Given the description of an element on the screen output the (x, y) to click on. 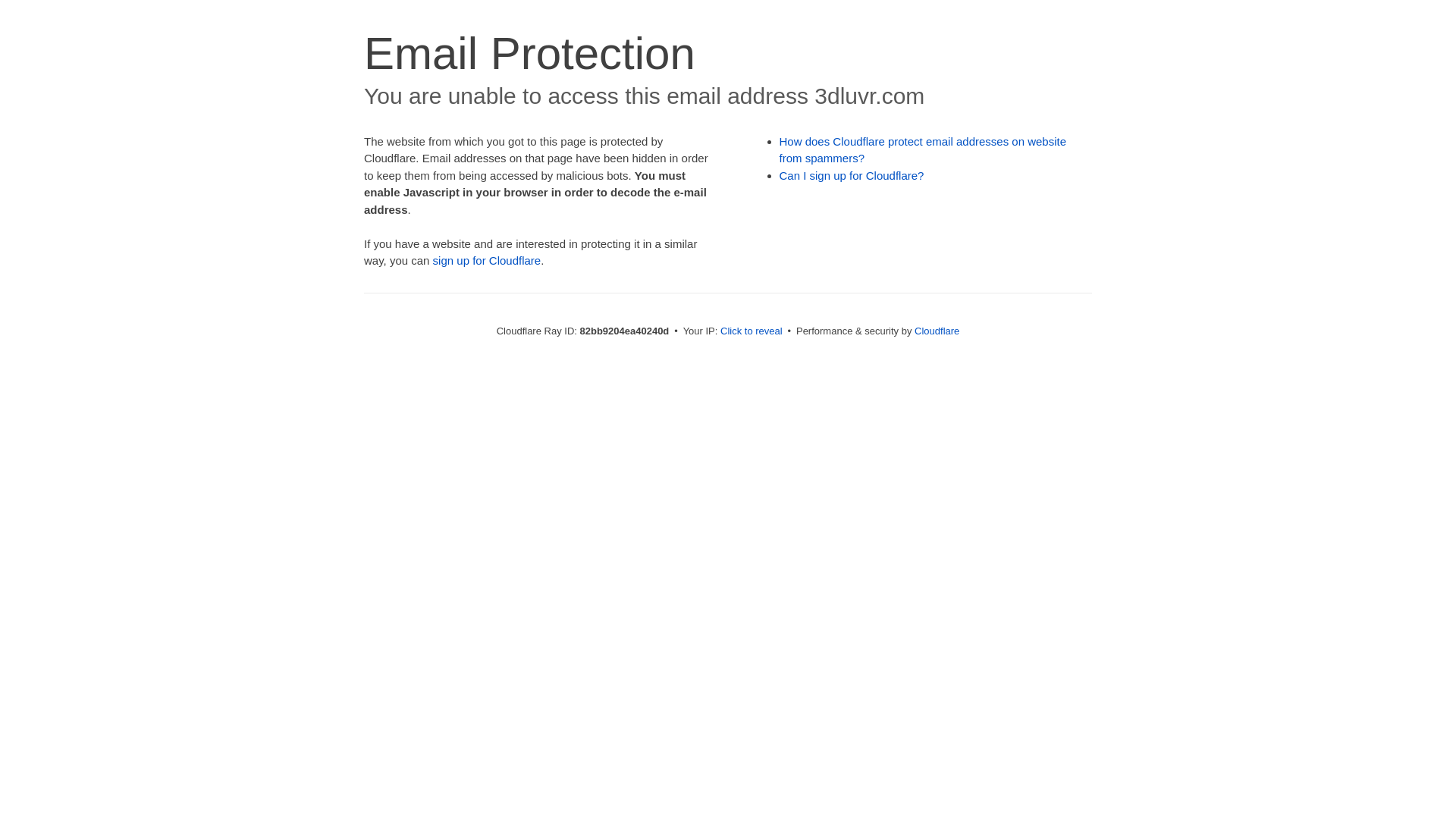
sign up for Cloudflare Element type: text (487, 260)
Cloudflare Element type: text (936, 330)
Can I sign up for Cloudflare? Element type: text (851, 175)
Click to reveal Element type: text (751, 330)
